Given the description of an element on the screen output the (x, y) to click on. 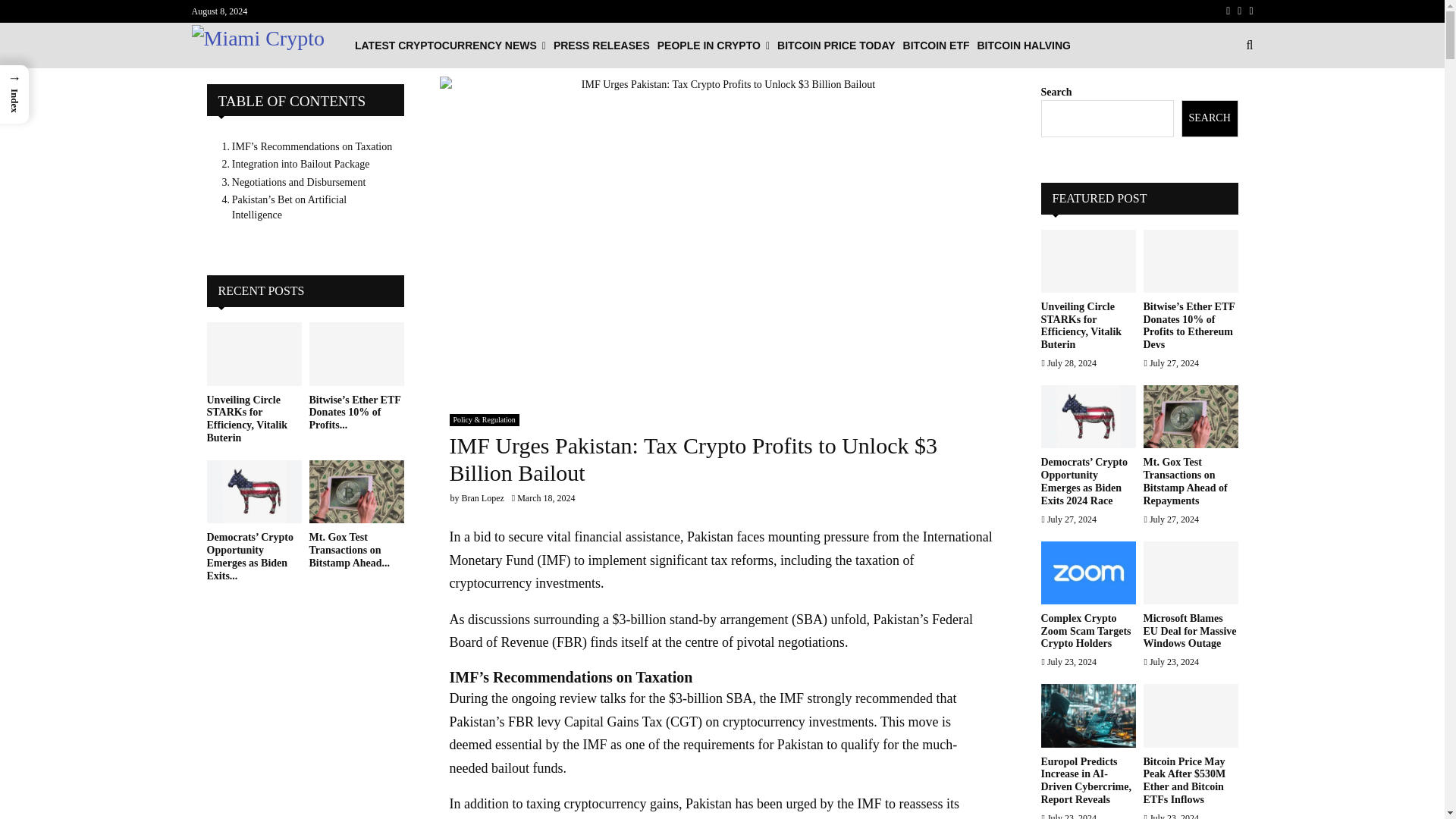
Unveiling Circle STARKs for Efficiency, Vitalik Buterin (253, 353)
the IMF strongly recommended (844, 698)
Negotiations and Disbursement (289, 182)
Bran Lopez (482, 498)
PRESS RELEASES (601, 44)
PEOPLE IN CRYPTO (714, 44)
BITCOIN PRICE TODAY (836, 44)
BITCOIN ETF (935, 44)
BITCOIN HALVING (1023, 44)
LATEST CRYPTOCURRENCY NEWS (450, 44)
